Given the description of an element on the screen output the (x, y) to click on. 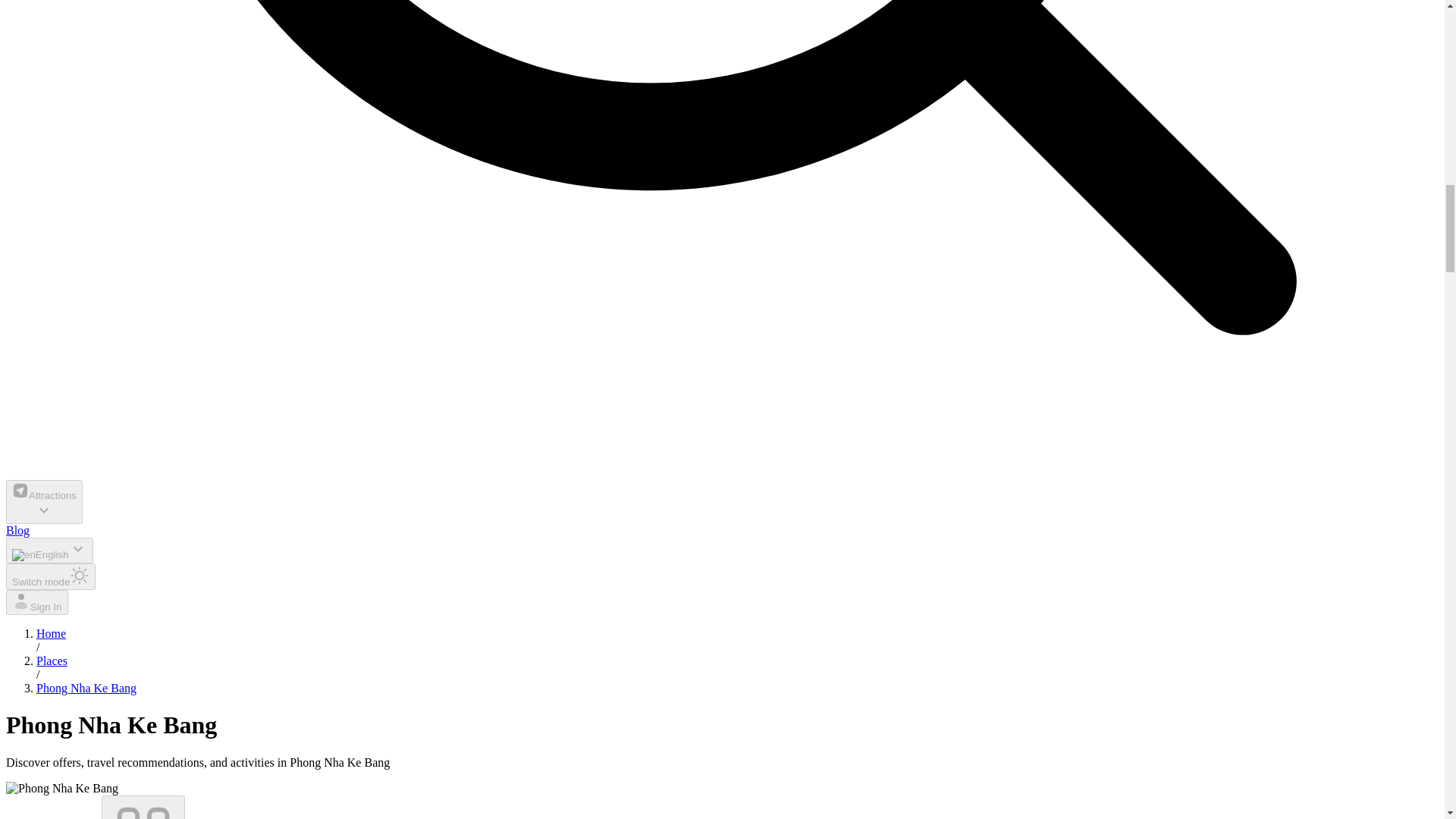
Blog (17, 530)
Home (50, 633)
English (49, 550)
Attractions (43, 501)
Places (51, 660)
Switch mode (50, 576)
Sign In (36, 602)
Phong Nha Ke Bang (86, 687)
Show all photos (142, 807)
